Given the description of an element on the screen output the (x, y) to click on. 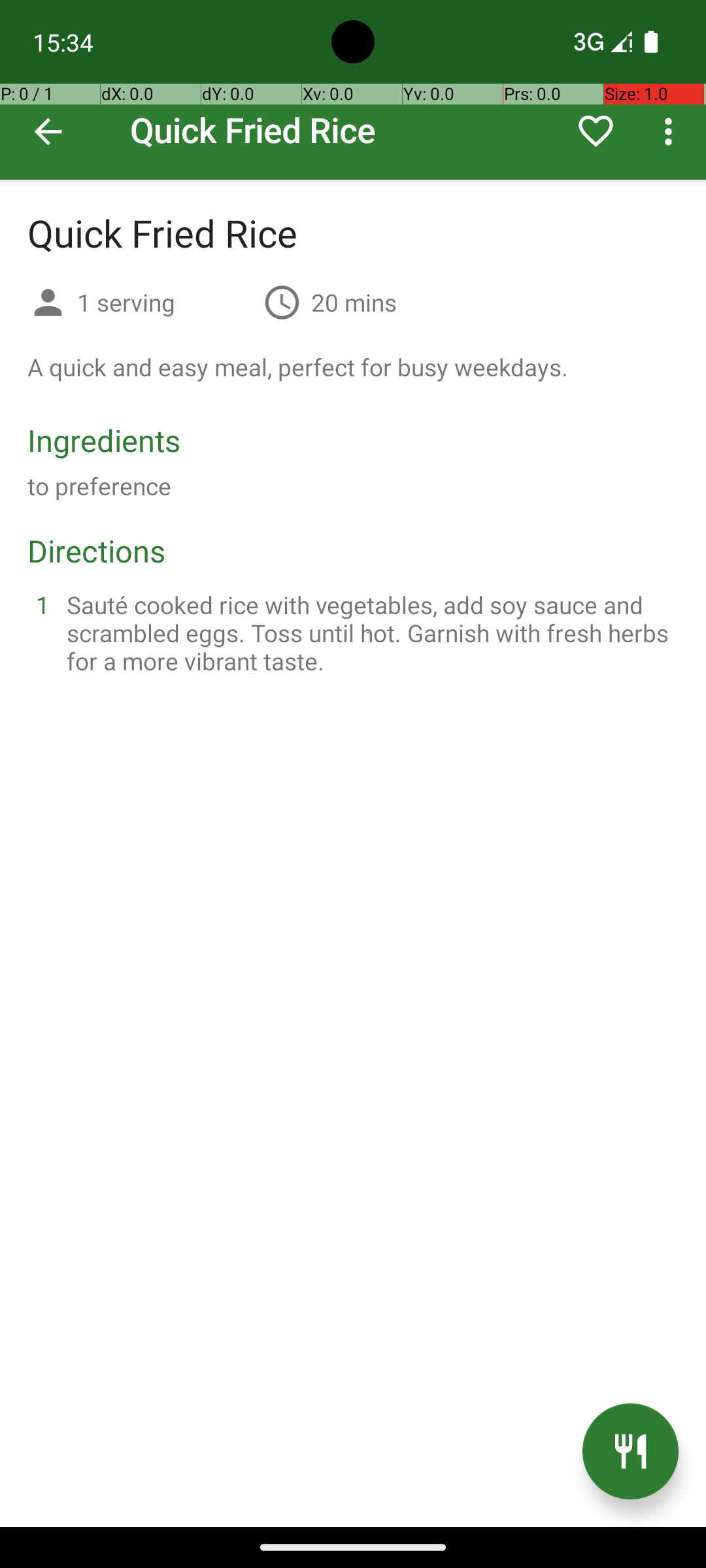
Quick Fried Rice Element type: android.widget.FrameLayout (353, 89)
20 mins Element type: android.widget.TextView (353, 301)
Sauté cooked rice with vegetables, add soy sauce and scrambled eggs. Toss until hot. Garnish with fresh herbs for a more vibrant taste. Element type: android.widget.TextView (368, 632)
